Given the description of an element on the screen output the (x, y) to click on. 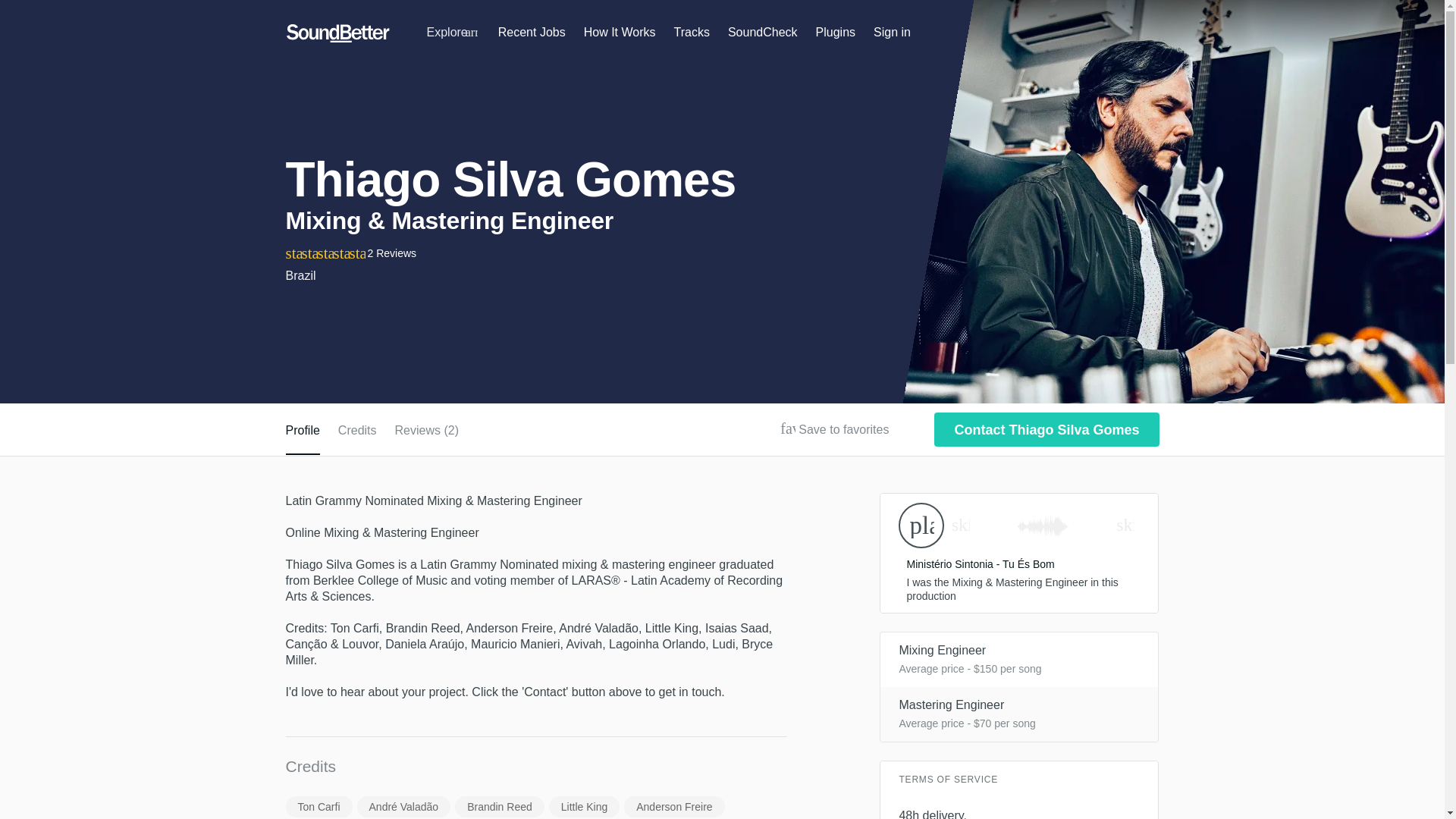
SoundBetter (337, 33)
